Given the description of an element on the screen output the (x, y) to click on. 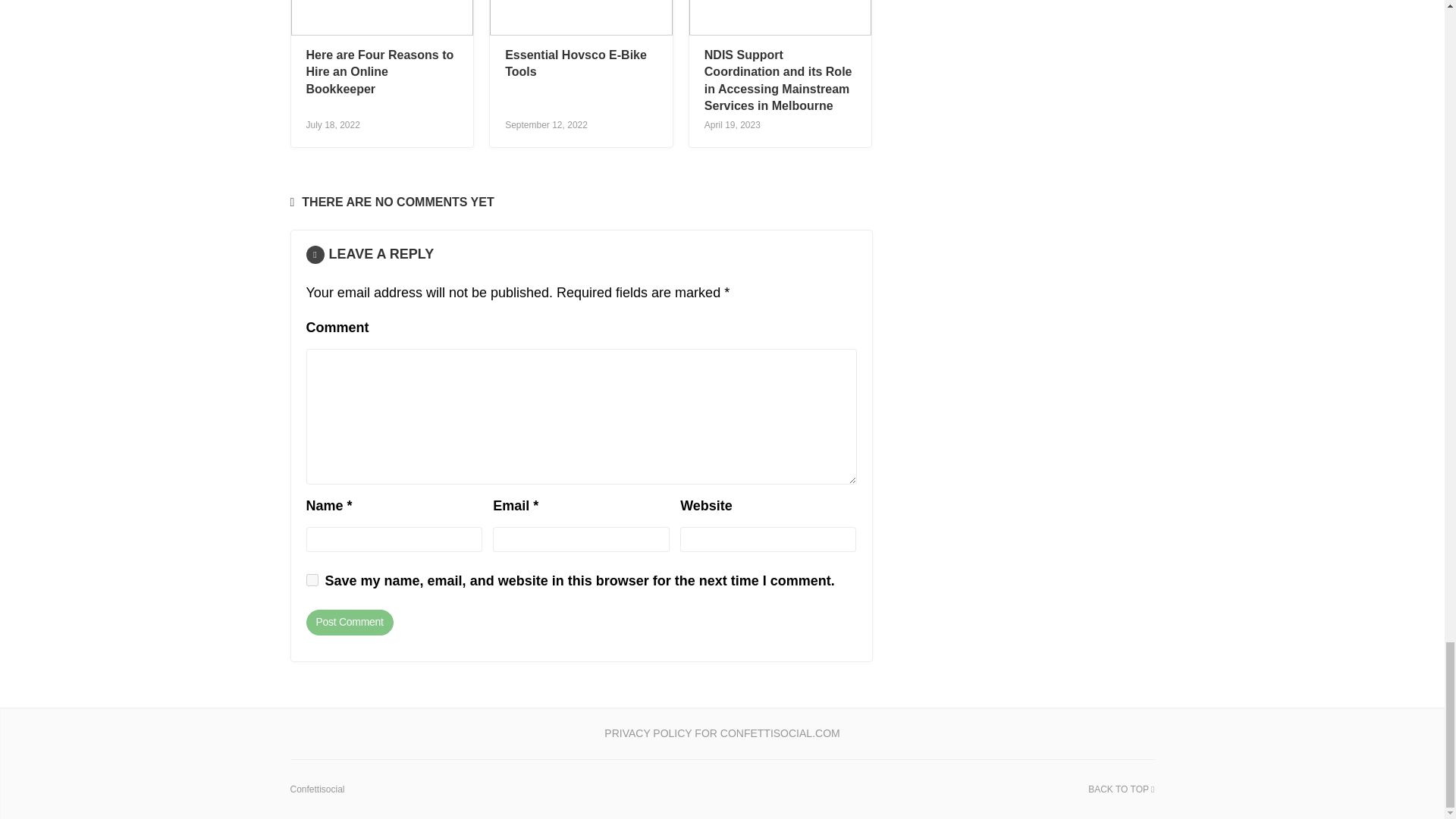
Here are Four Reasons to Hire an Online Bookkeeper (379, 71)
BACK TO TOP  (1120, 789)
Essential Hovsco E-Bike Tools (575, 62)
Post Comment (349, 622)
Post Comment (349, 622)
yes (311, 580)
